Given the description of an element on the screen output the (x, y) to click on. 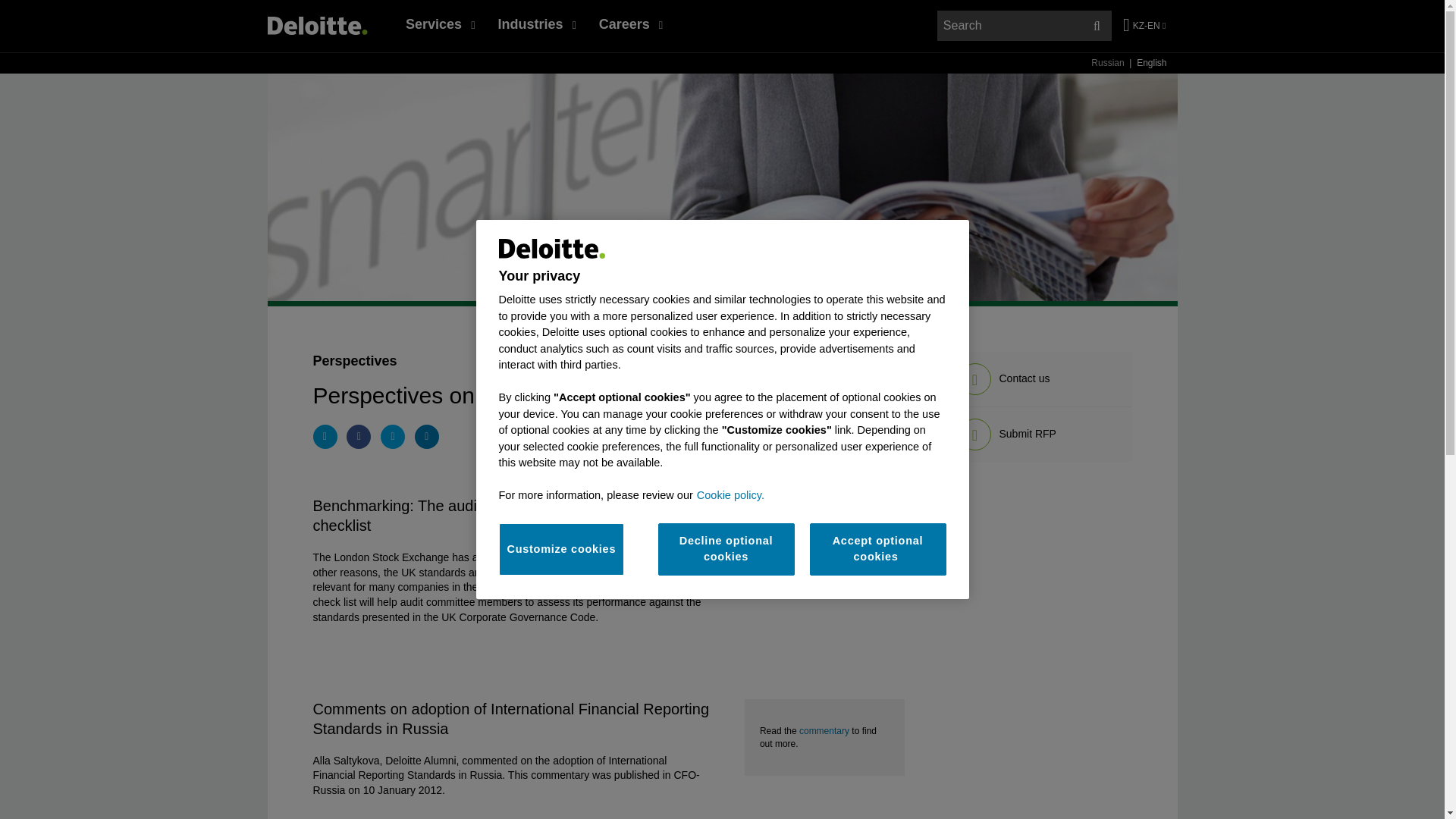
search (1024, 25)
Share via... (392, 436)
Deloitte in Kazakhstan (316, 25)
Share via... (358, 436)
Industries (536, 24)
Search (1096, 25)
Share via... (426, 436)
Share via... (324, 436)
Services (440, 24)
